Given the description of an element on the screen output the (x, y) to click on. 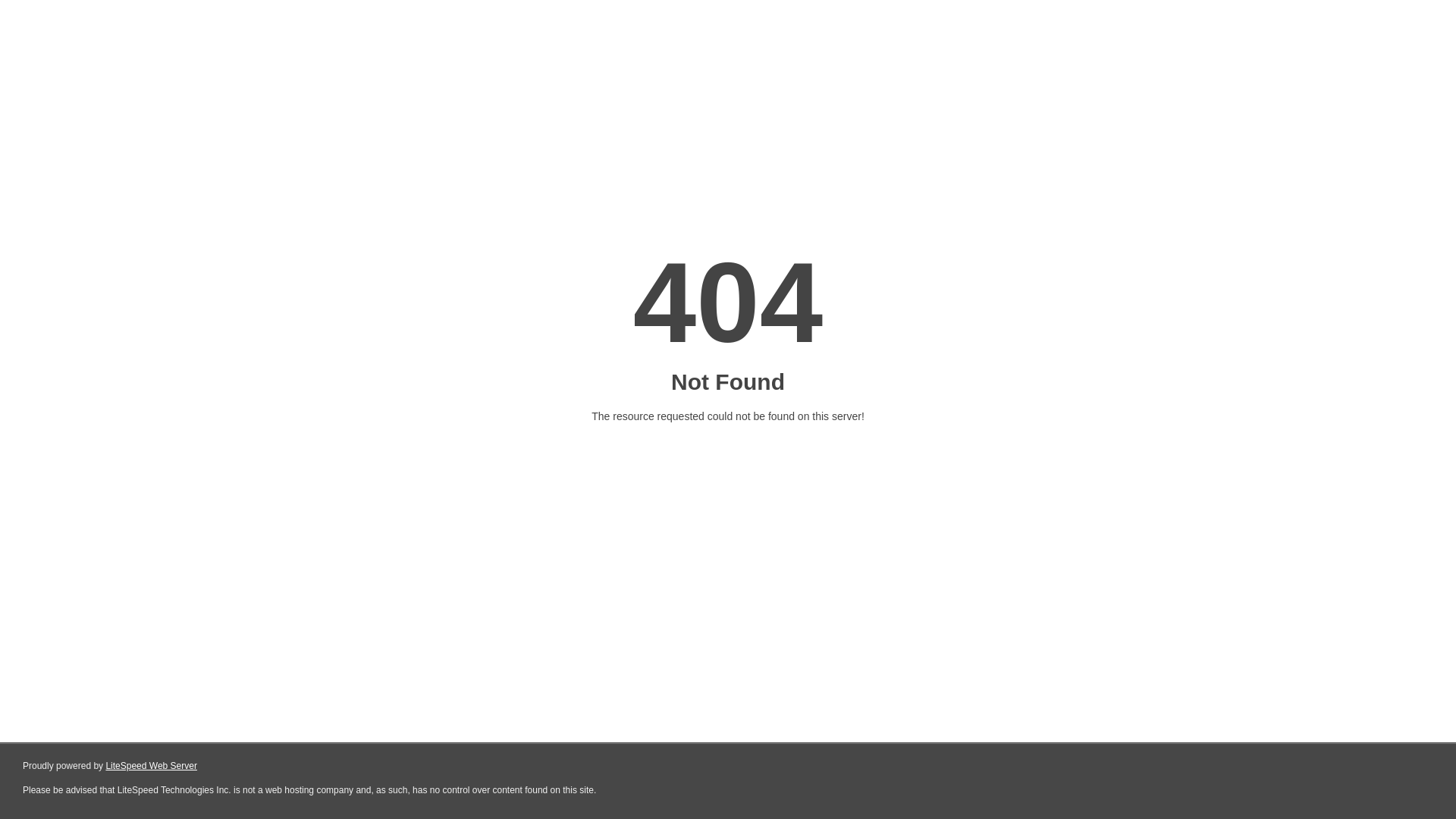
LiteSpeed Web Server Element type: text (151, 765)
